Given the description of an element on the screen output the (x, y) to click on. 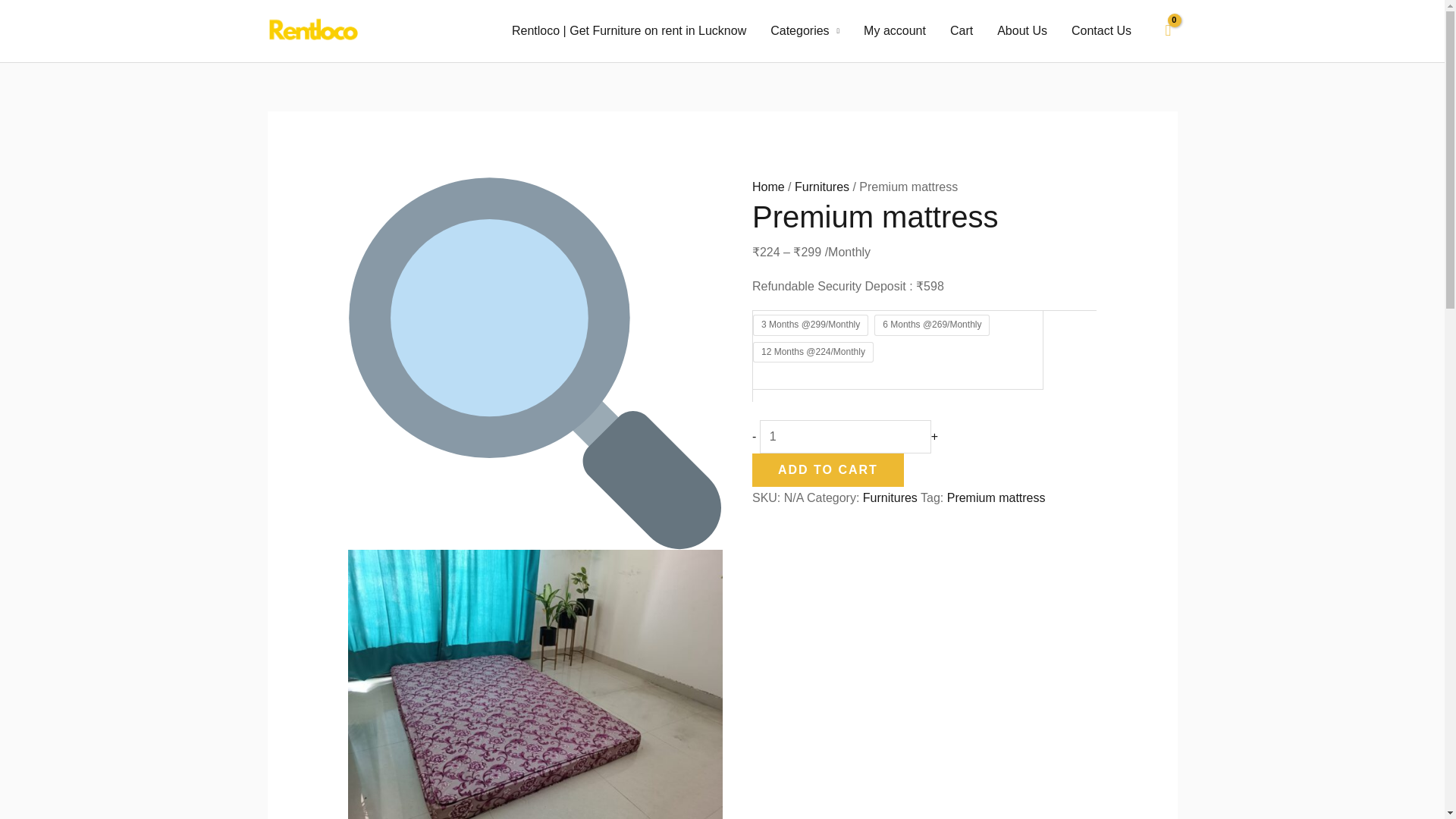
Cart (961, 30)
About Us (1022, 30)
My account (894, 30)
Furnitures (821, 186)
Categories (804, 30)
Home (768, 186)
Contact Us (1100, 30)
1 (845, 436)
Furnitures (890, 497)
ADD TO CART (828, 469)
